Given the description of an element on the screen output the (x, y) to click on. 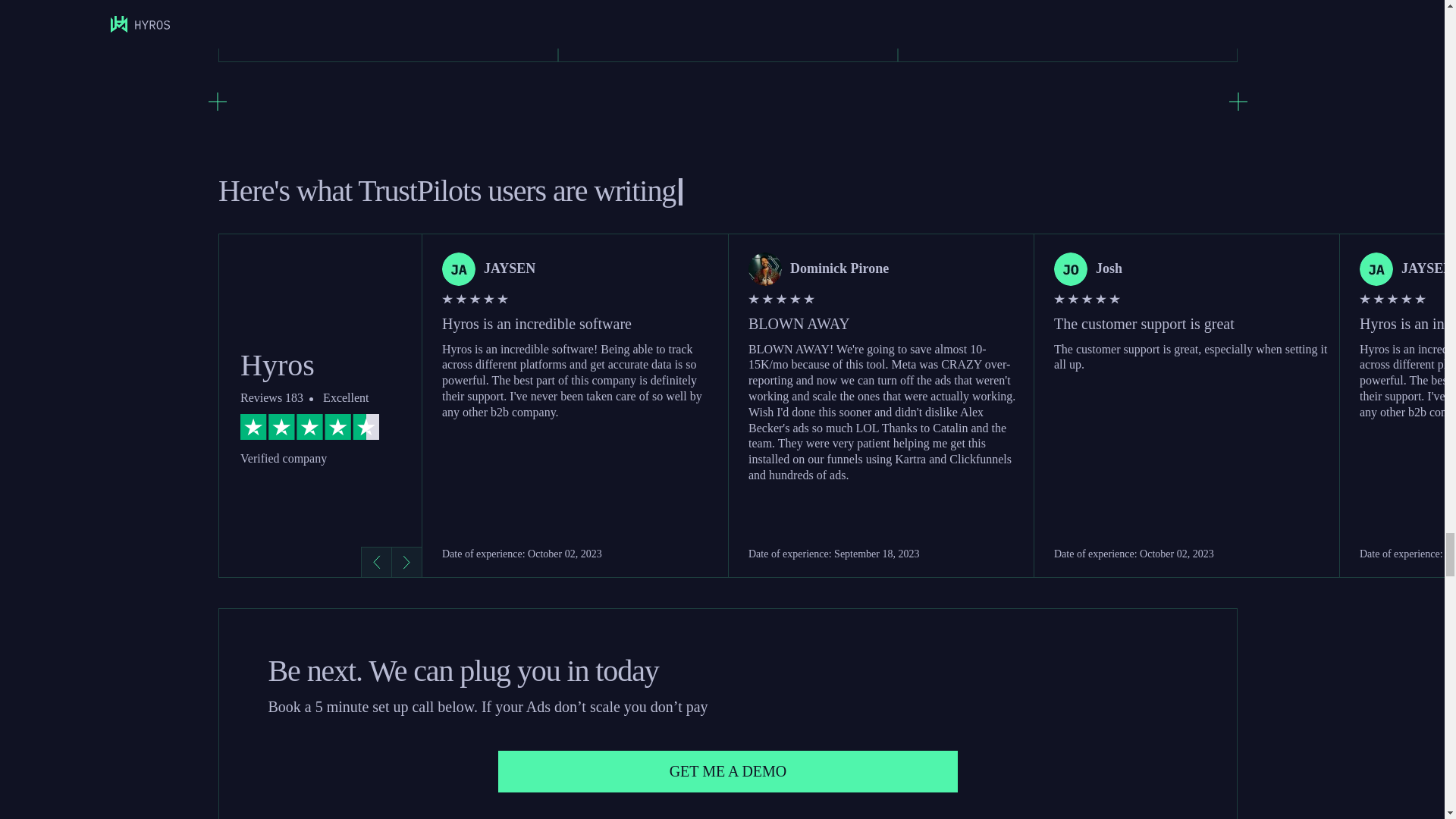
GET ME A DEMO (727, 771)
Next (406, 562)
Previous (376, 562)
